Given the description of an element on the screen output the (x, y) to click on. 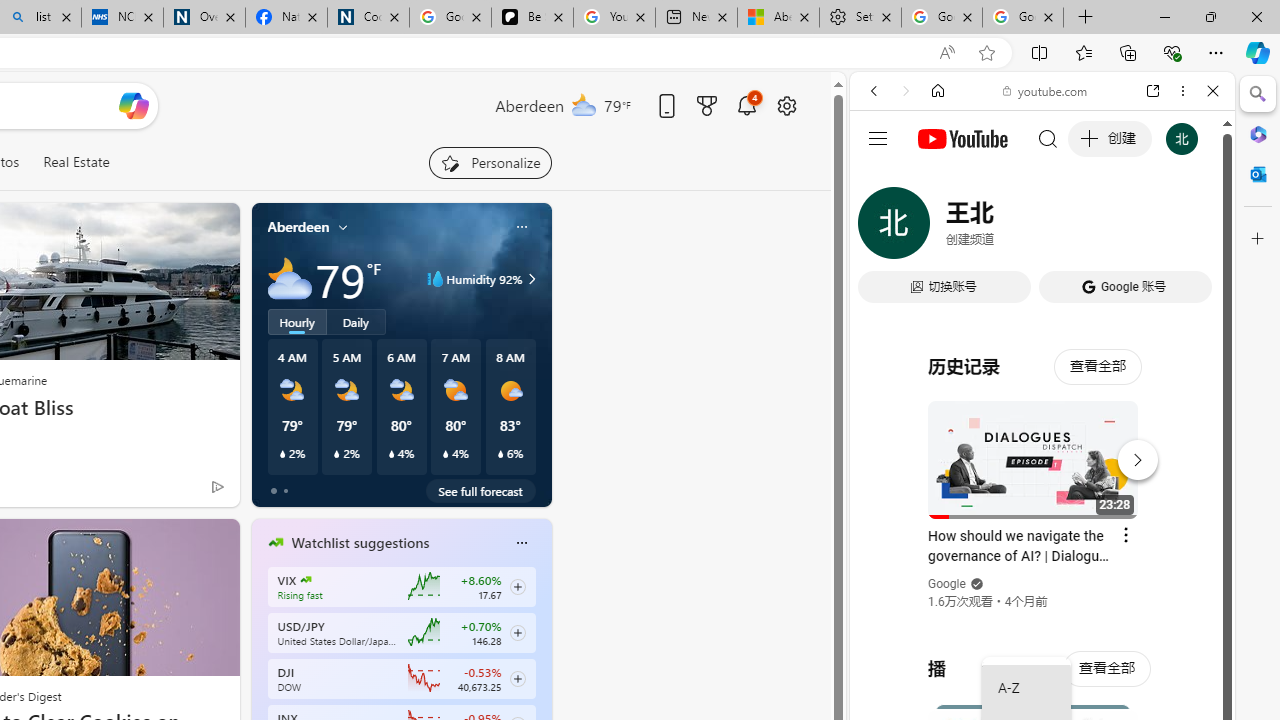
NCL Adult Asthma Inhaler Choice Guideline (121, 17)
See full forecast (480, 490)
Search Filter, IMAGES (939, 228)
Ad Choice (217, 485)
Real Estate (76, 161)
Watchlist suggestions (360, 543)
previous (261, 670)
youtube.com (1046, 90)
More options (1182, 91)
